Given the description of an element on the screen output the (x, y) to click on. 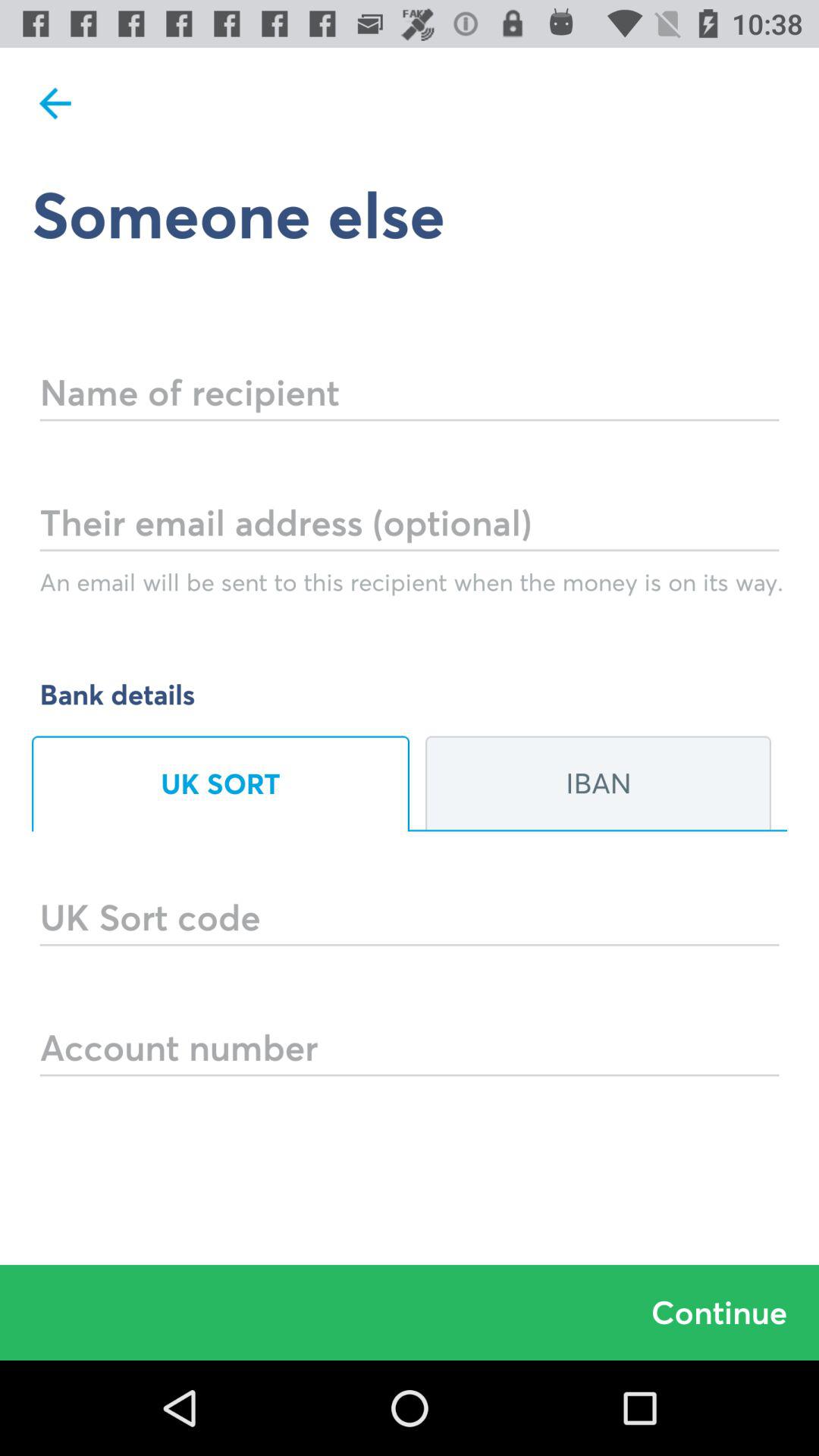
launch the icon next to the uk sort (598, 783)
